Given the description of an element on the screen output the (x, y) to click on. 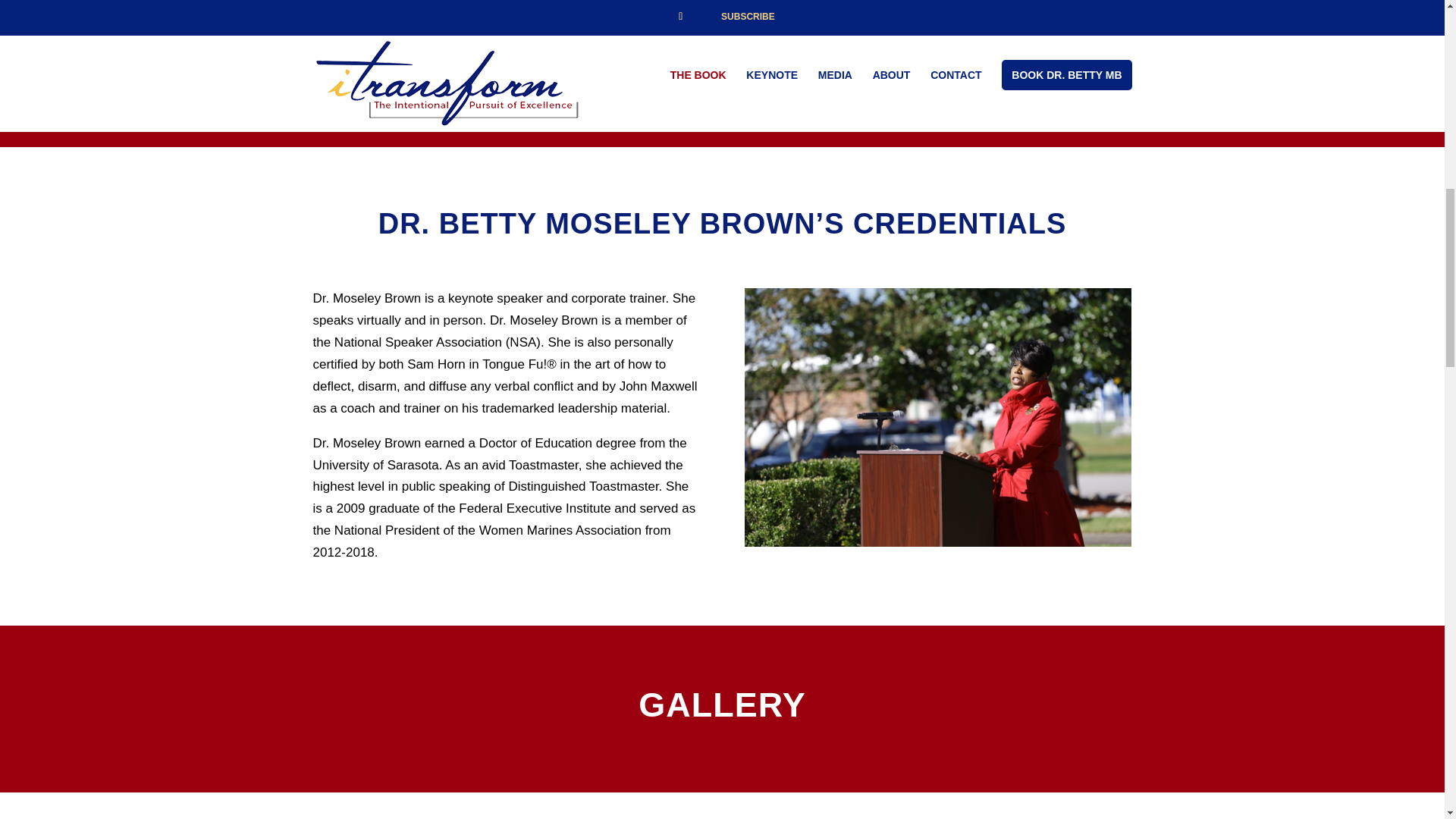
CMC Hosts Evening Parade (521, 813)
Rededication of Molly Marine Statue (937, 417)
CMC Hosts Evening Parade (923, 813)
